Given the description of an element on the screen output the (x, y) to click on. 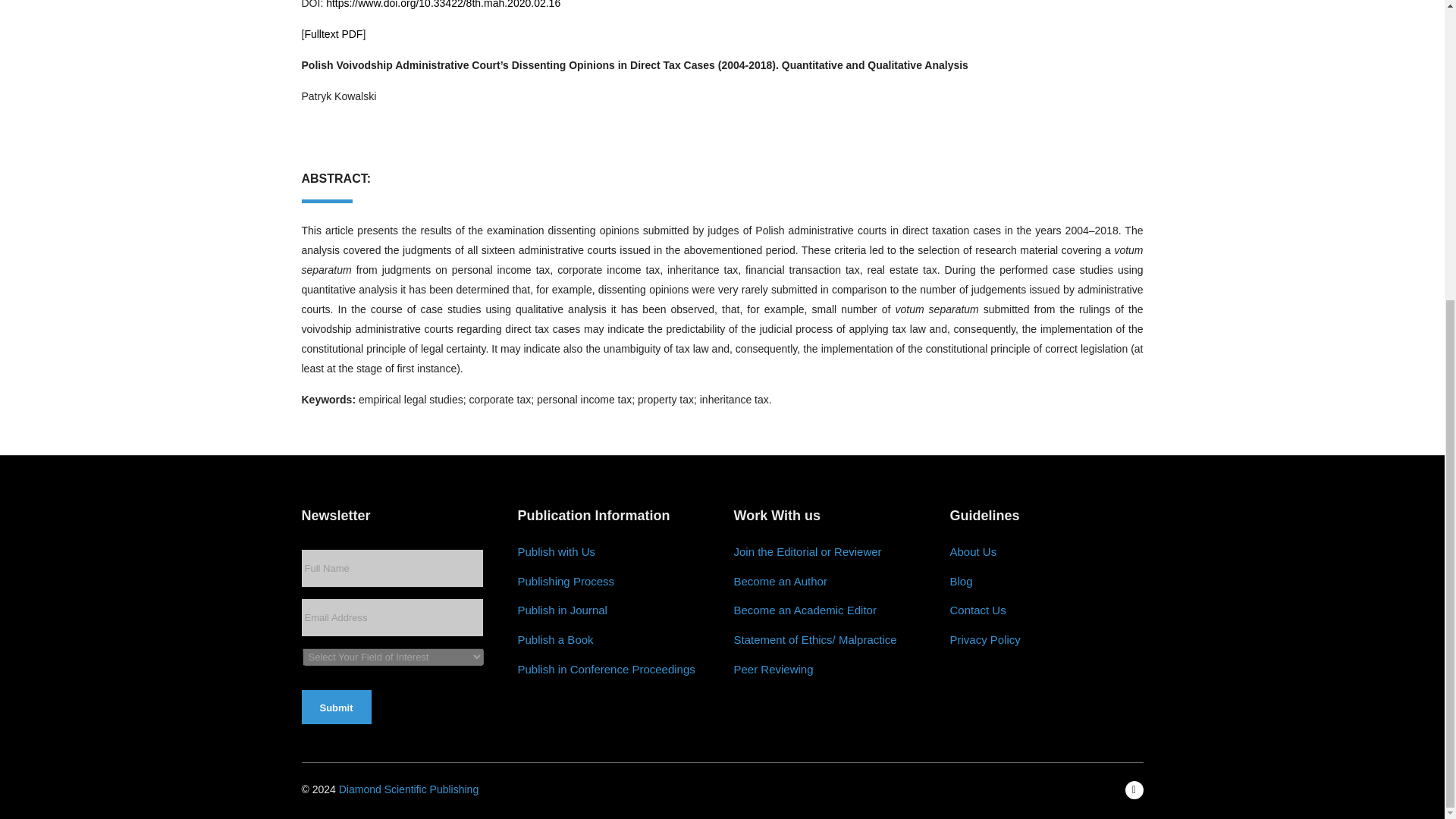
Blog (960, 581)
Contact Us (977, 610)
Publish with Us (555, 552)
Publish in Conference Proceedings (605, 669)
Submit (336, 706)
Fulltext PDF (333, 33)
Peer Reviewing (773, 669)
About Us (972, 552)
Publish in Journal (561, 610)
Publishing Process (565, 581)
Become an Author (780, 581)
Join the Editorial or Reviewer (807, 552)
Privacy Policy (984, 640)
Submit (336, 706)
Diamond Scientific Publishing (409, 788)
